Given the description of an element on the screen output the (x, y) to click on. 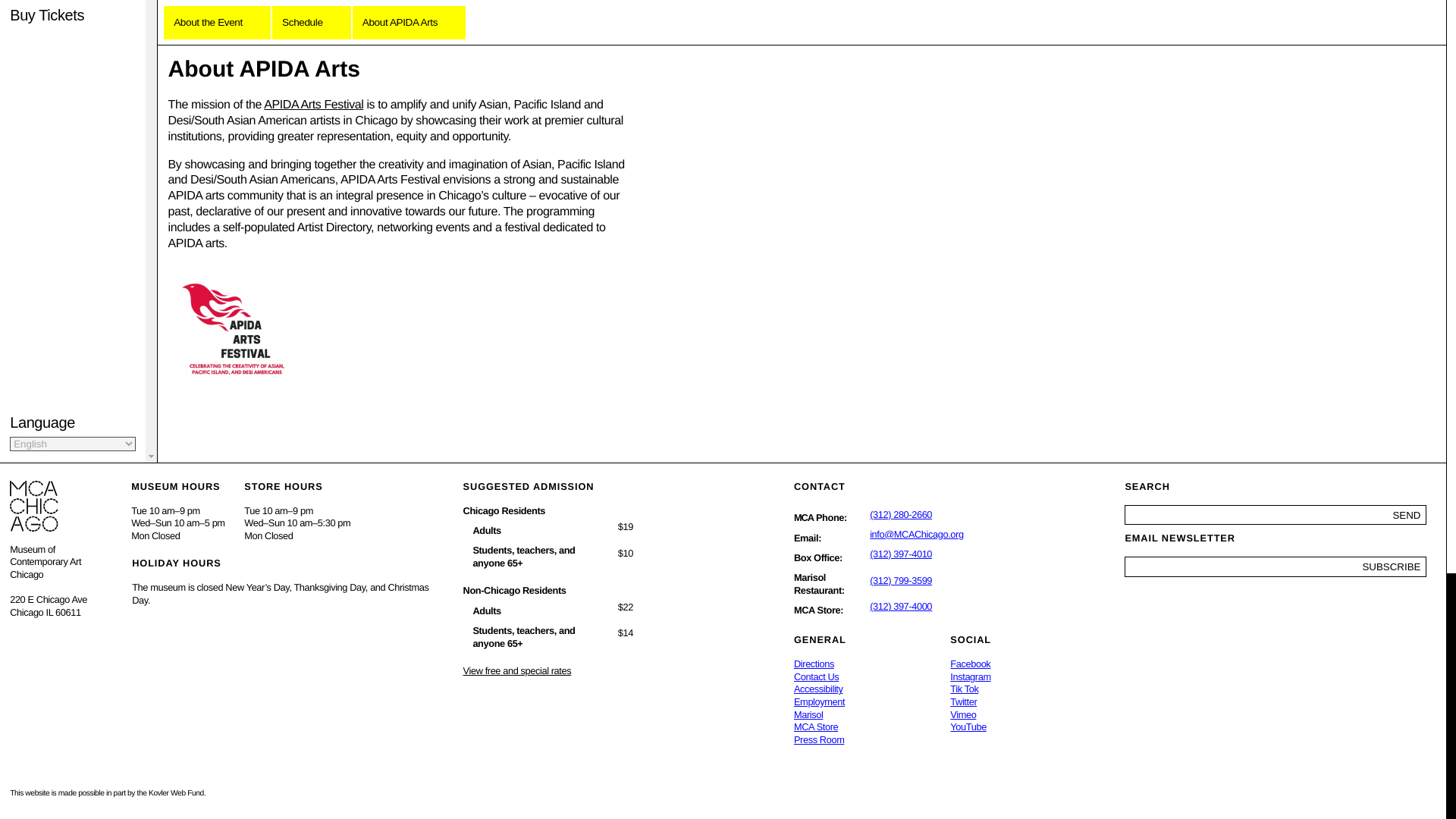
click here to submit search query (1406, 515)
send (1406, 515)
Subscribe (1391, 566)
Museum of Contemporary Art Chicago (803, 517)
